Given the description of an element on the screen output the (x, y) to click on. 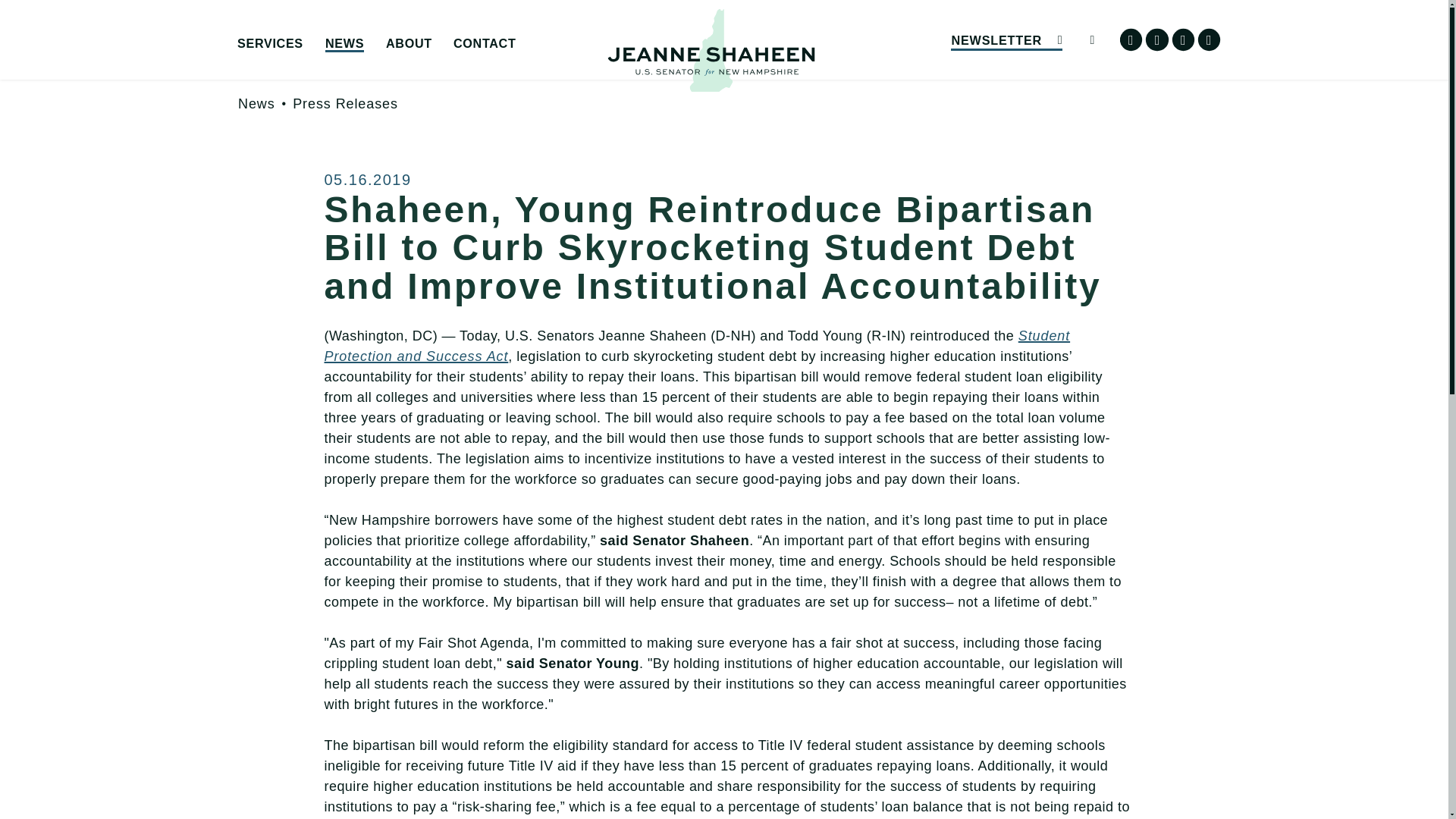
Congressionally Directed Spending Requests (350, 73)
CONTACT (483, 44)
NEWSLETTER (1006, 39)
ABOUT (408, 44)
SERVICES (269, 44)
Press Releases (438, 66)
Contact Jeanne (566, 66)
Biography (498, 66)
Help With A Federal Agency (350, 66)
Press Releases (344, 103)
